Given the description of an element on the screen output the (x, y) to click on. 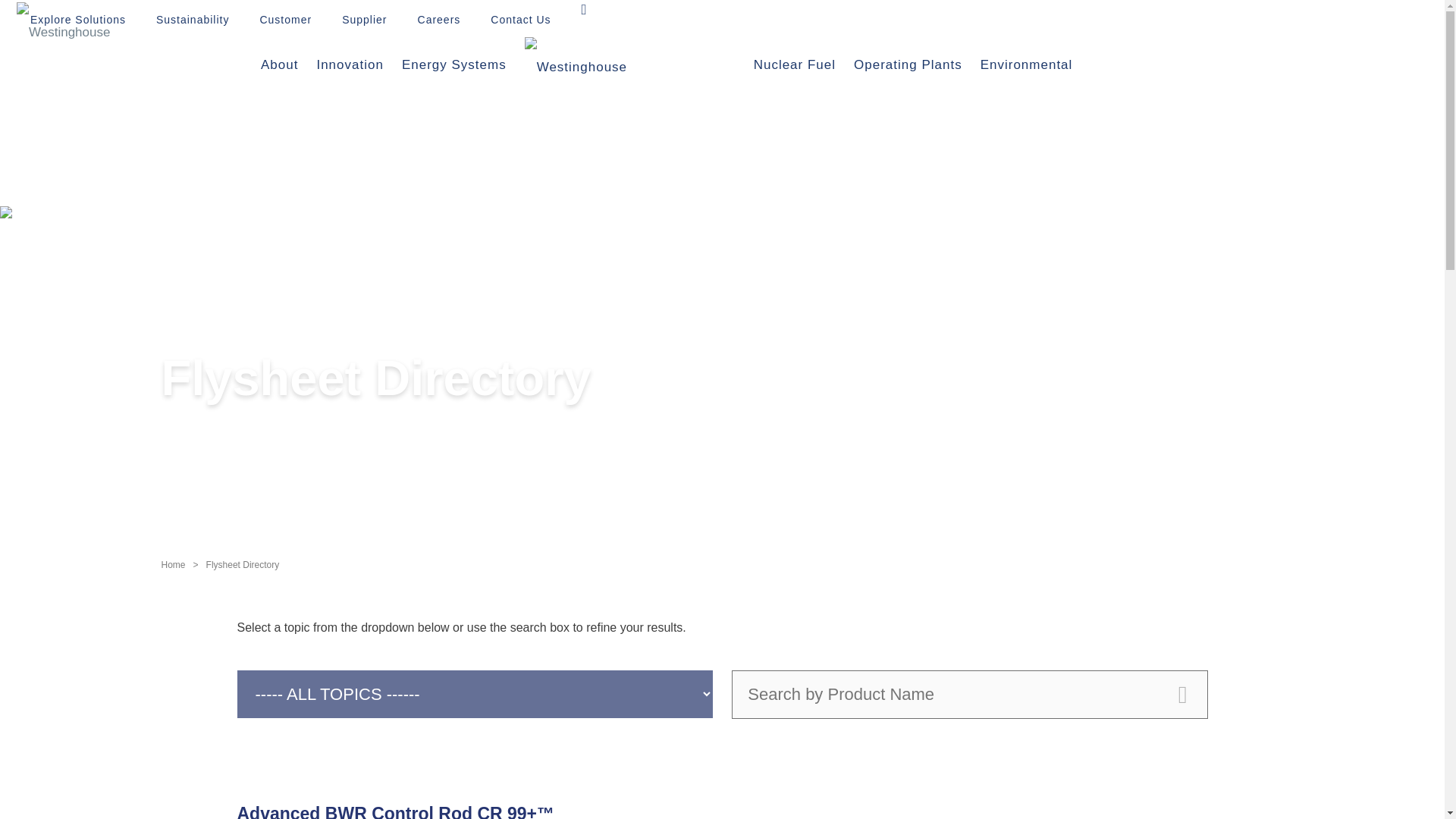
Energy Systems (454, 69)
Innovation (349, 69)
